Given the description of an element on the screen output the (x, y) to click on. 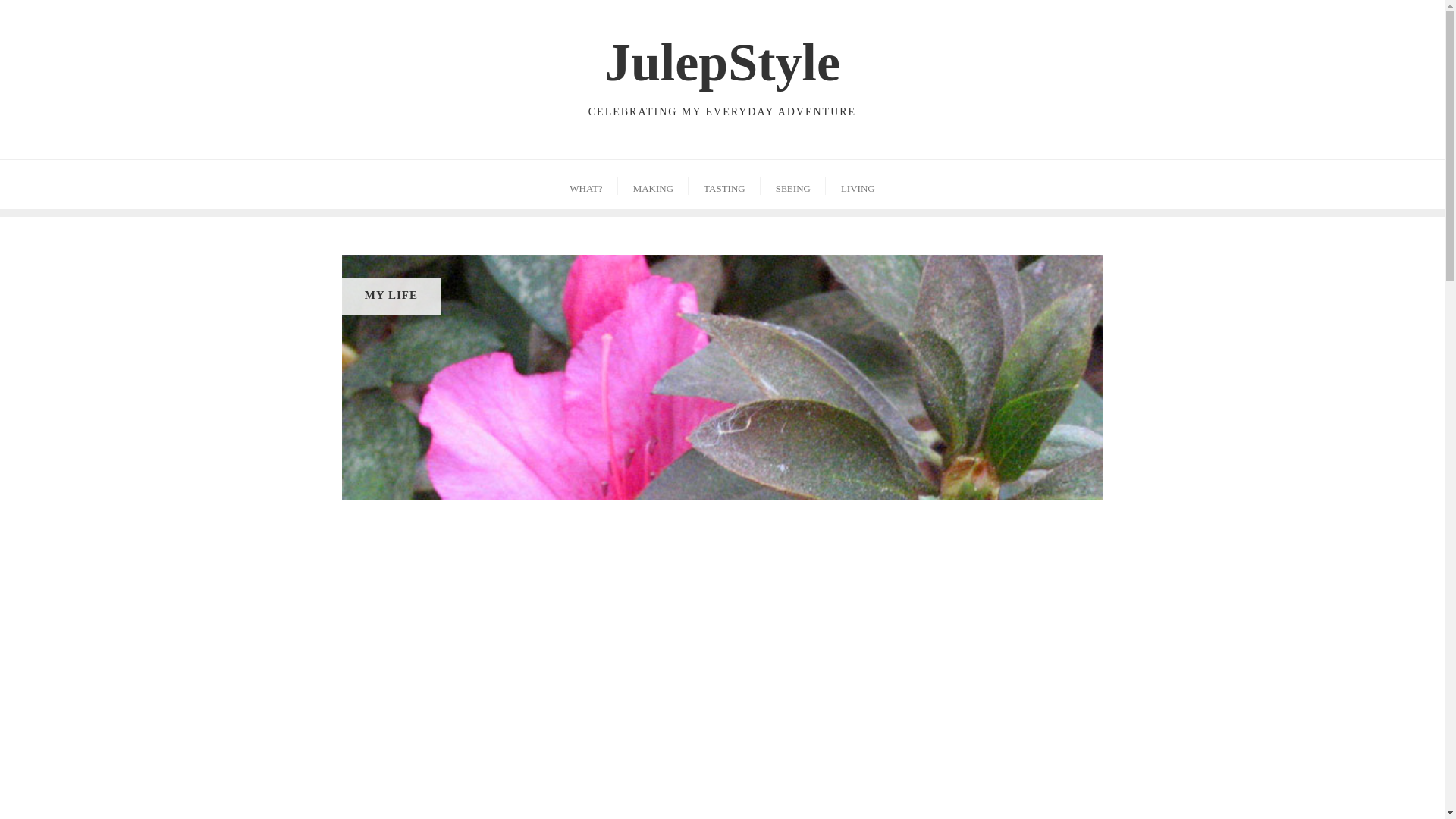
Seeing (792, 184)
MAKING (652, 184)
LIVING (857, 184)
SEEING (792, 184)
TASTING (724, 184)
First Azalea of Spring? (722, 71)
